Given the description of an element on the screen output the (x, y) to click on. 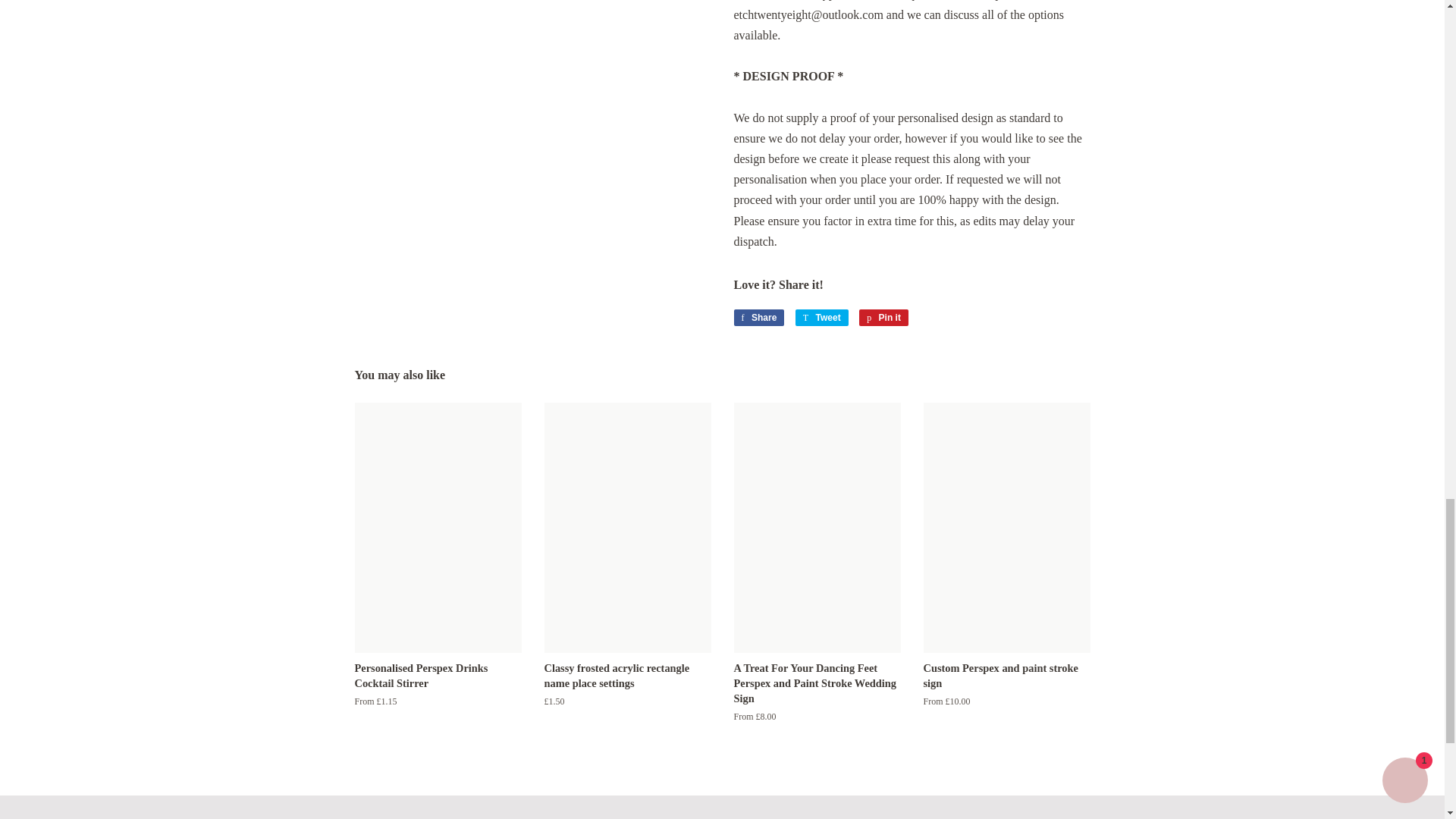
Pin on Pinterest (883, 317)
Share on Facebook (758, 317)
Tweet on Twitter (821, 317)
